Given the description of an element on the screen output the (x, y) to click on. 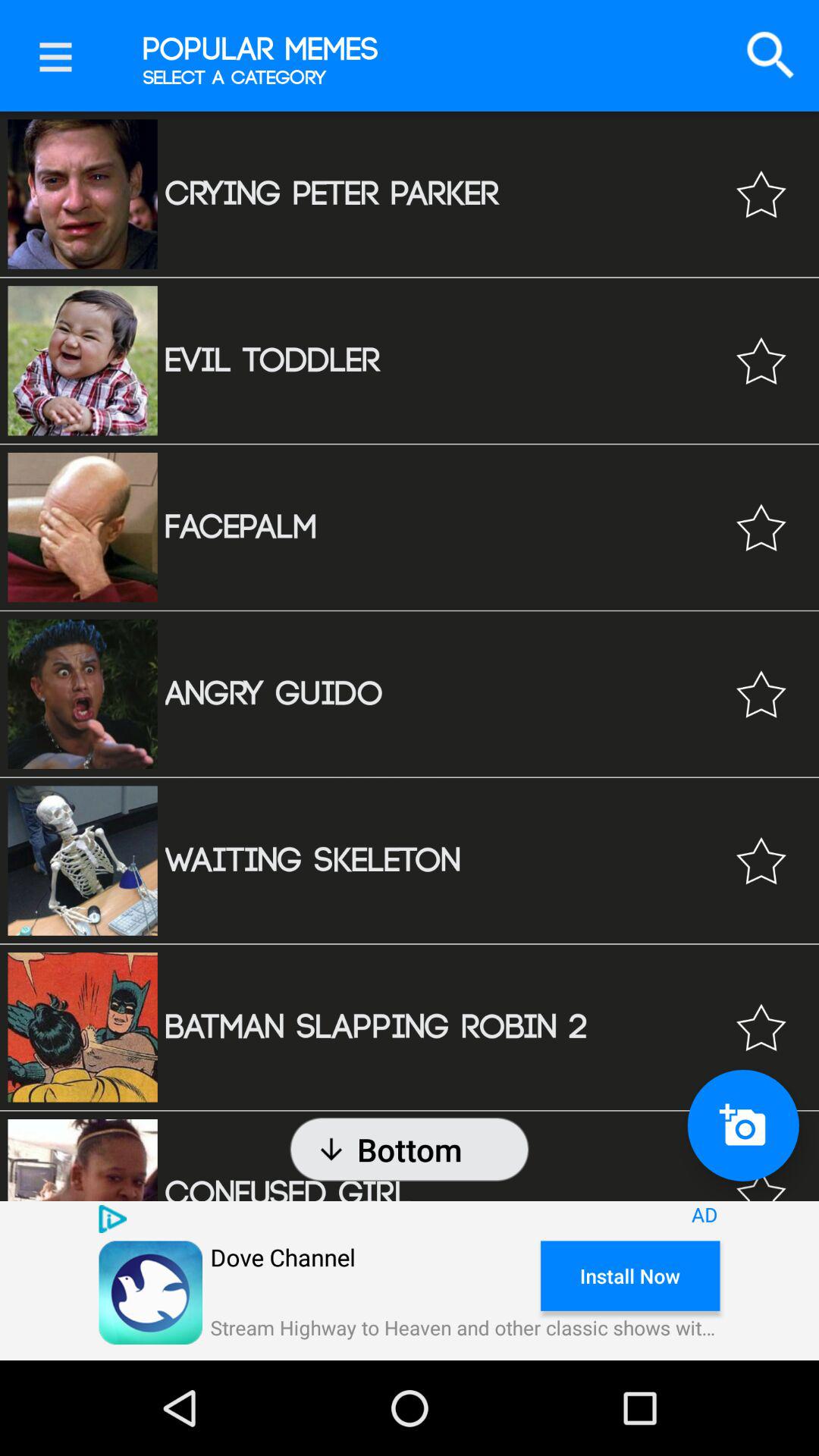
favorite the content (761, 360)
